Given the description of an element on the screen output the (x, y) to click on. 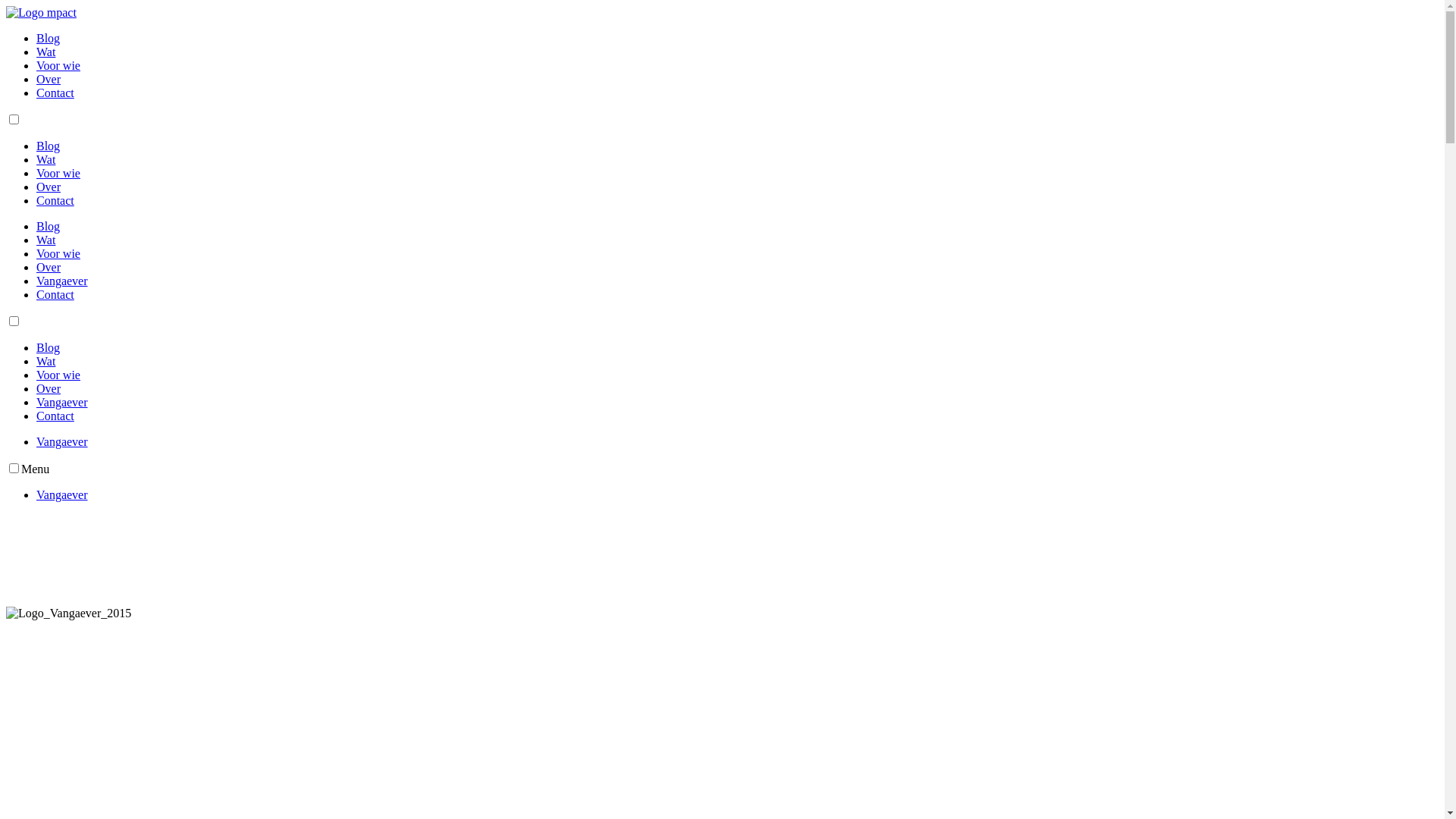
Vangaever Element type: text (61, 280)
Over Element type: text (48, 78)
Over Element type: text (48, 266)
Vangaever Element type: text (61, 401)
Contact Element type: text (55, 294)
Voor wie Element type: text (58, 374)
Voor wie Element type: text (58, 172)
Blog Element type: text (47, 347)
Contact Element type: text (55, 200)
Blog Element type: text (47, 37)
Contact Element type: text (55, 92)
Wat Element type: text (45, 239)
Vangaever Element type: text (61, 441)
Wat Element type: text (45, 51)
Over Element type: text (48, 186)
Blog Element type: text (47, 145)
Vangaever Element type: text (61, 494)
Wat Element type: text (45, 360)
Wat Element type: text (45, 159)
Voor wie Element type: text (58, 253)
Voor wie Element type: text (58, 65)
Over Element type: text (48, 388)
Contact Element type: text (55, 415)
Blog Element type: text (47, 225)
